Given the description of an element on the screen output the (x, y) to click on. 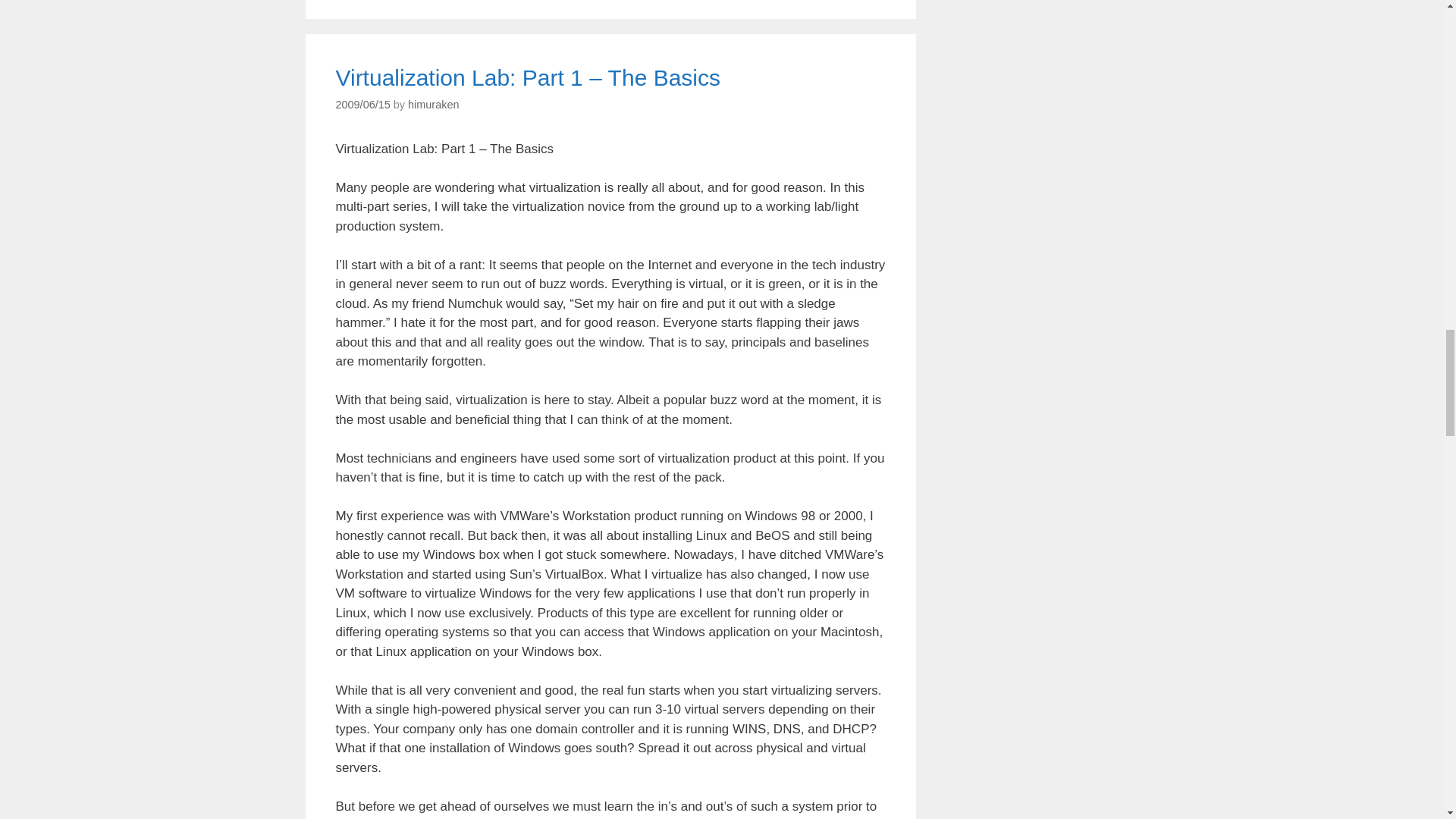
View all posts by himuraken (432, 104)
8:00 am (362, 104)
